Given the description of an element on the screen output the (x, y) to click on. 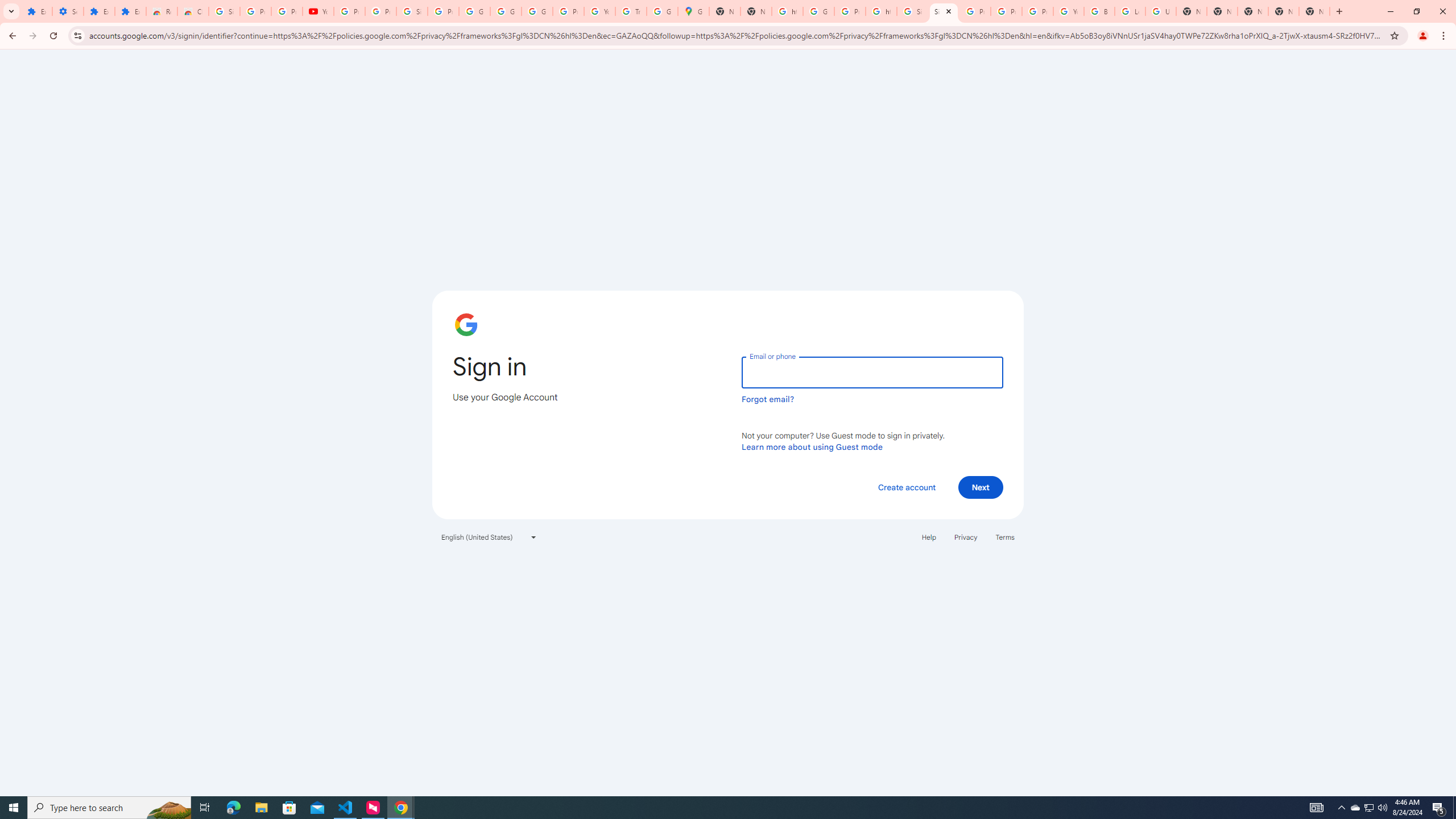
Learn more about using Guest mode (812, 446)
Terms (1005, 536)
English (United States) (489, 536)
Extensions (98, 11)
Settings (67, 11)
YouTube (1068, 11)
https://scholar.google.com/ (881, 11)
New Tab (1314, 11)
Help (928, 536)
